Given the description of an element on the screen output the (x, y) to click on. 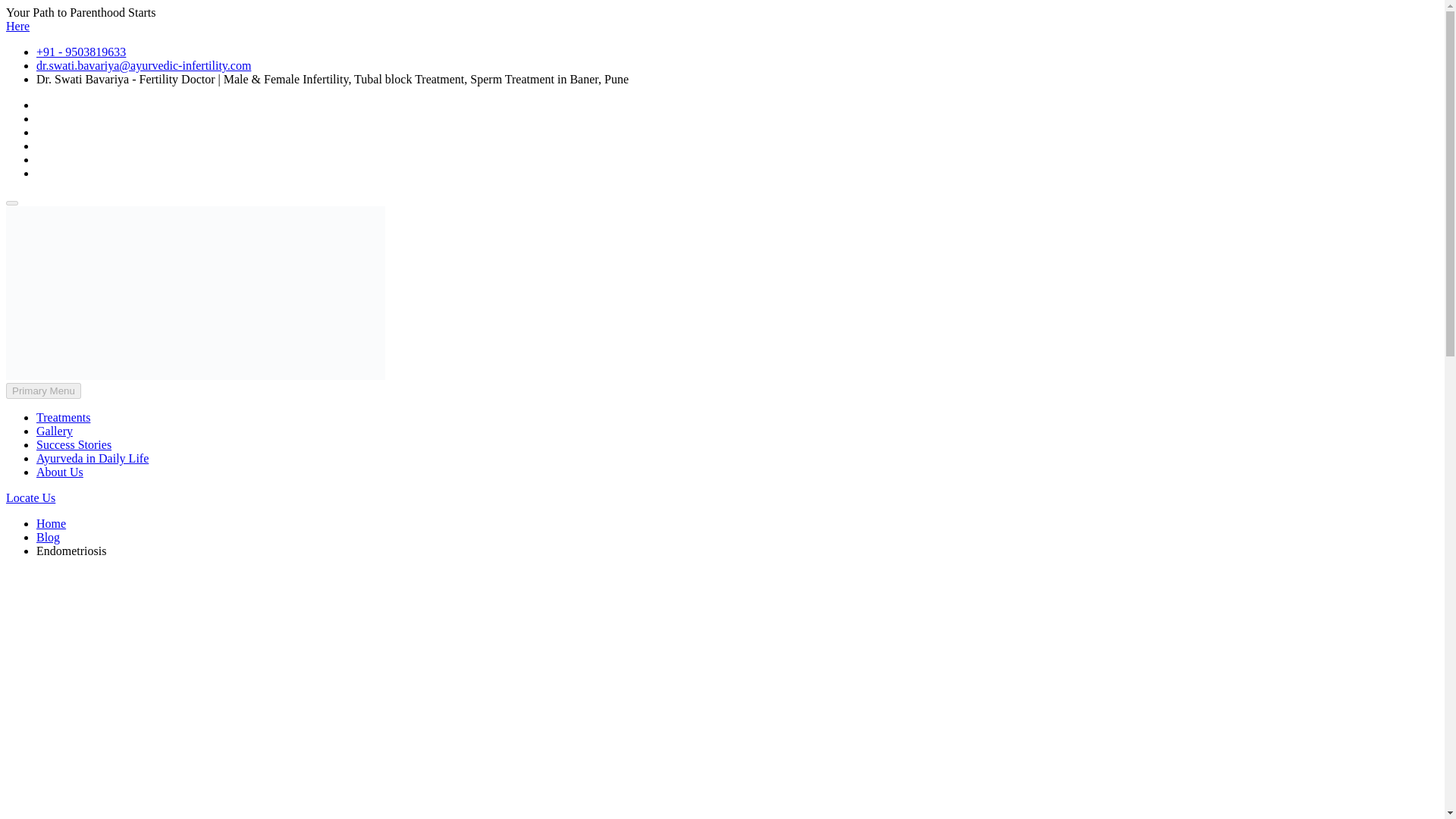
Ayurveda in Daily Life (92, 458)
Primary Menu (43, 390)
About Us (59, 472)
Home (50, 522)
Locate Us (30, 497)
Treatments (63, 417)
Gallery (54, 431)
Success Stories (74, 444)
Here (17, 25)
Blog (47, 536)
